Given the description of an element on the screen output the (x, y) to click on. 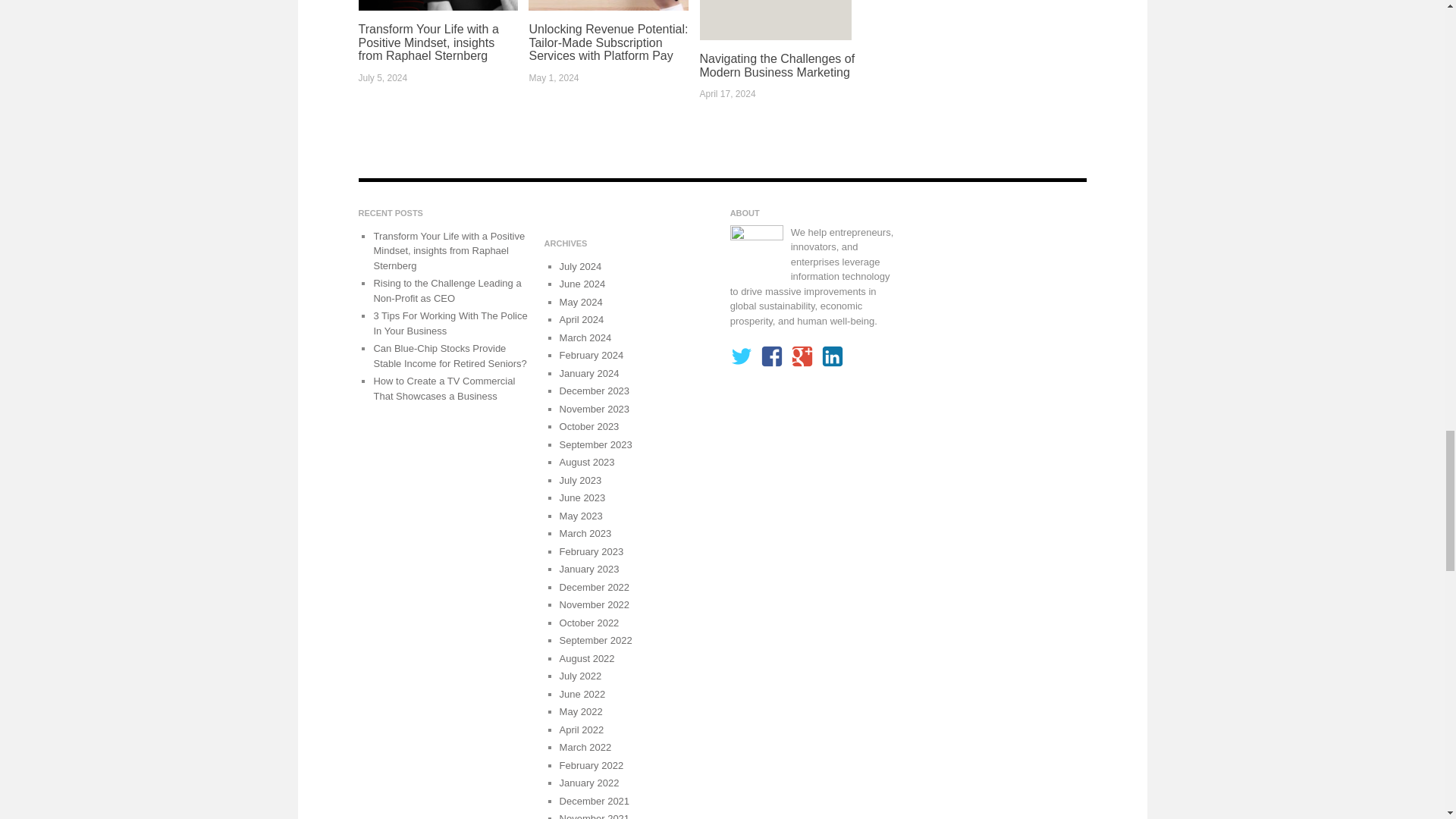
Navigating the Challenges of Modern Business Marketing (776, 65)
